Given the description of an element on the screen output the (x, y) to click on. 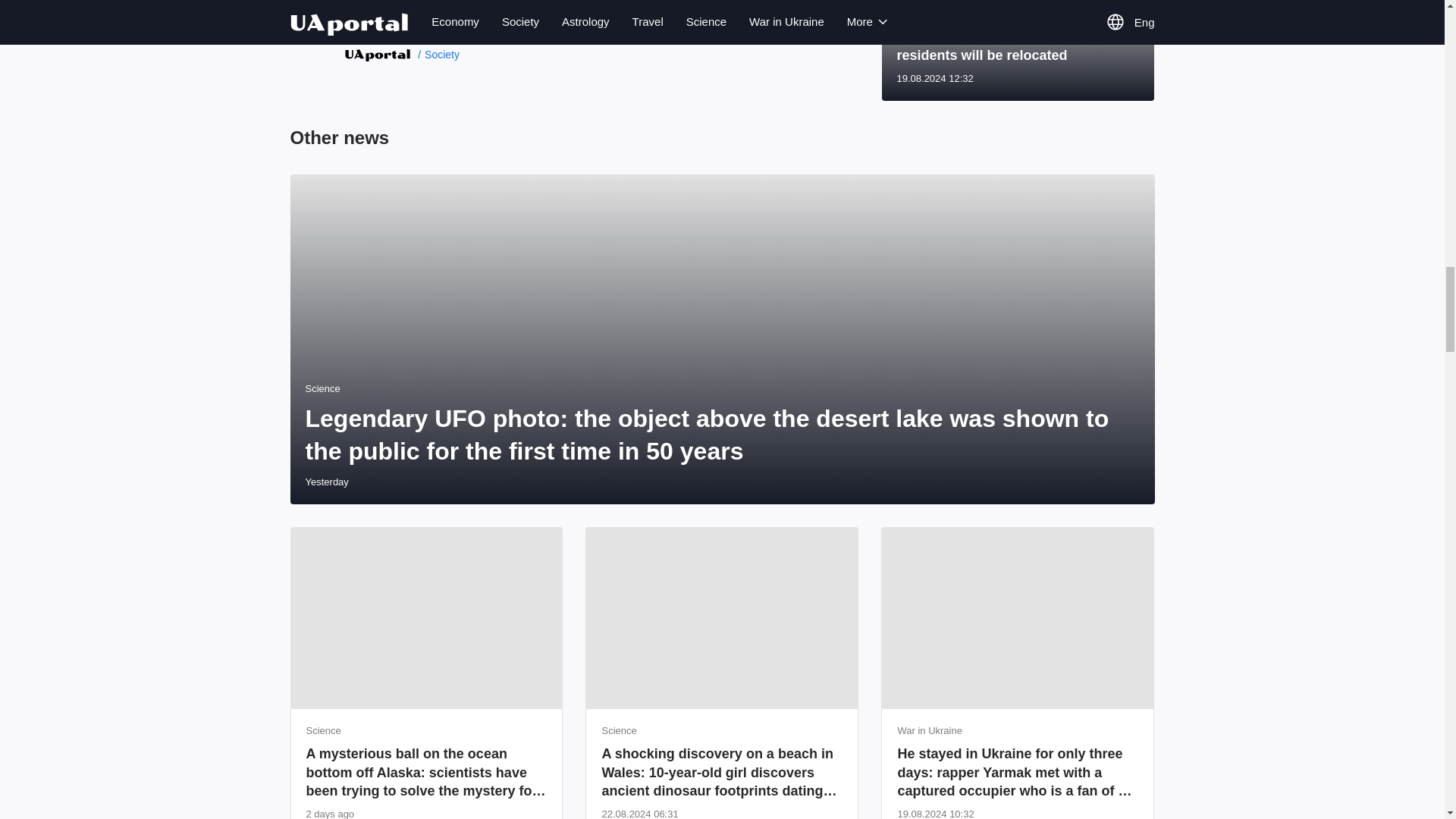
UA Portal (376, 53)
Lifehacks (368, 20)
Society (438, 54)
